Given the description of an element on the screen output the (x, y) to click on. 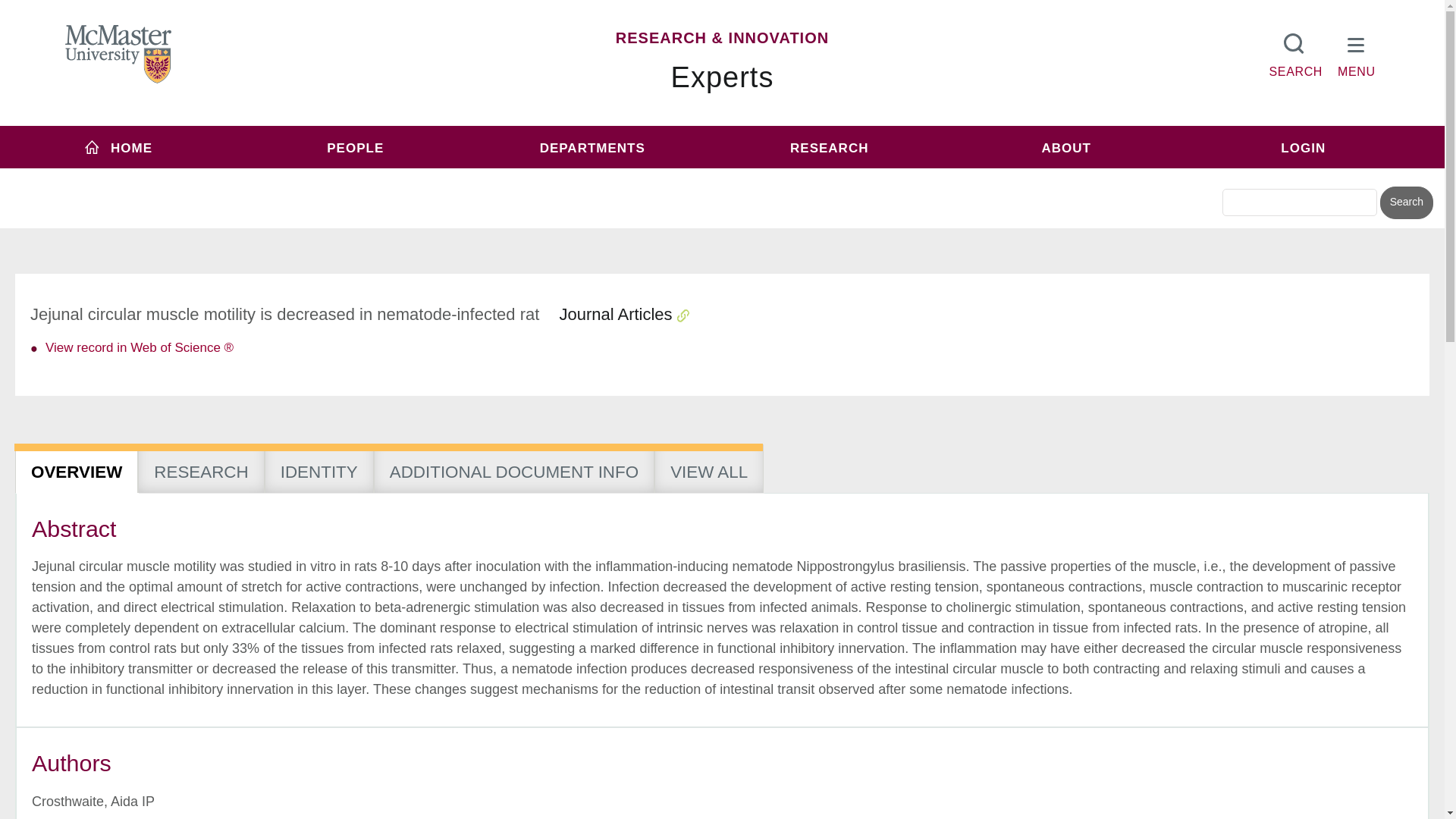
Home menu item (118, 147)
DEPARTMENTS (592, 147)
RESEARCH (829, 147)
HOME (118, 147)
inurl:experts.mcmaster.ca (601, 175)
inurl:mcmaster.ca (829, 175)
People menu item (355, 147)
MENU (1356, 51)
link text (138, 347)
MCMASTER LOGO (118, 54)
